Given the description of an element on the screen output the (x, y) to click on. 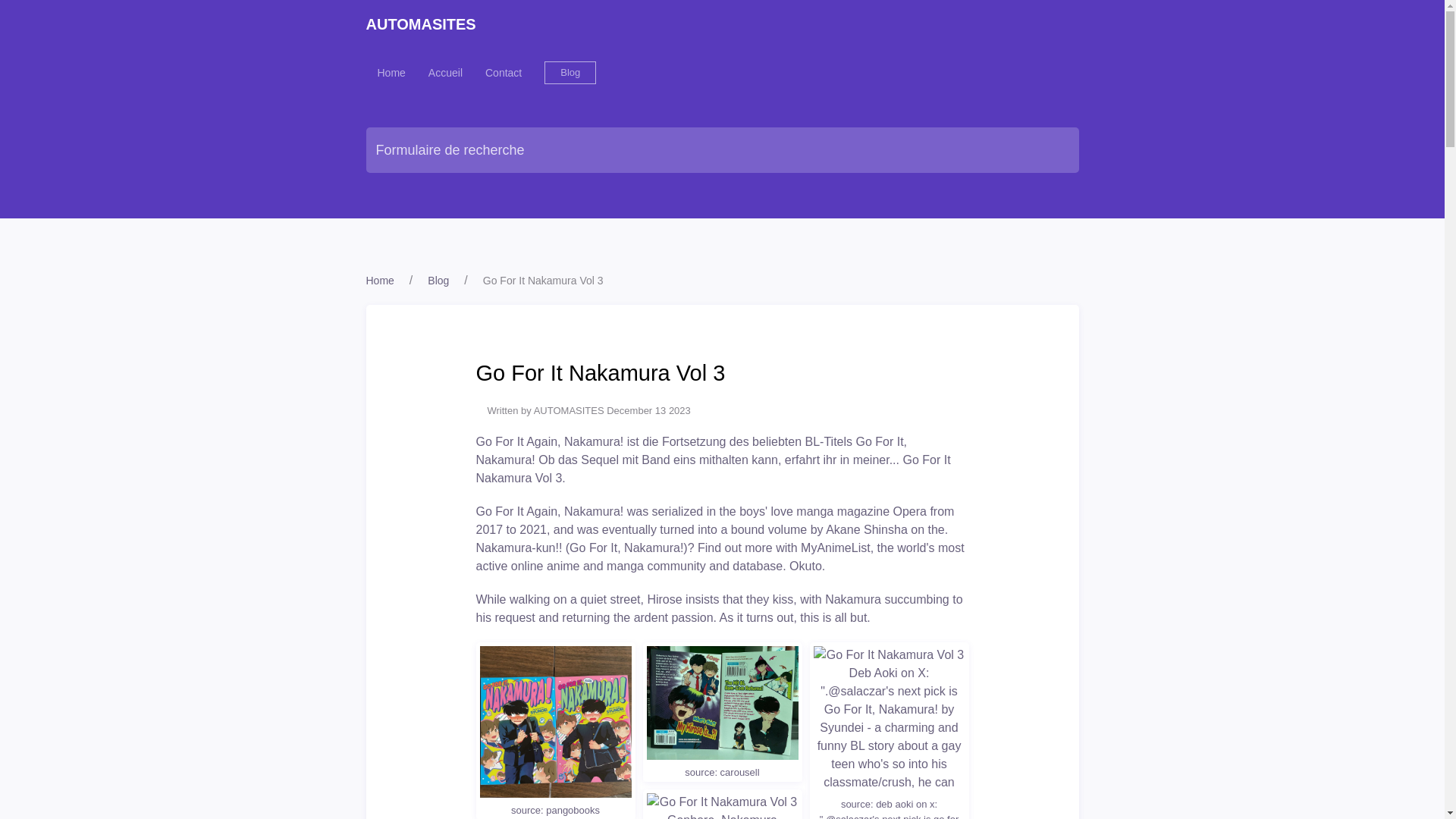
AUTOMASITES (421, 24)
Blog (438, 280)
Blog (569, 72)
Contact (503, 72)
Home (390, 72)
Home (379, 280)
Accueil (445, 72)
